Given the description of an element on the screen output the (x, y) to click on. 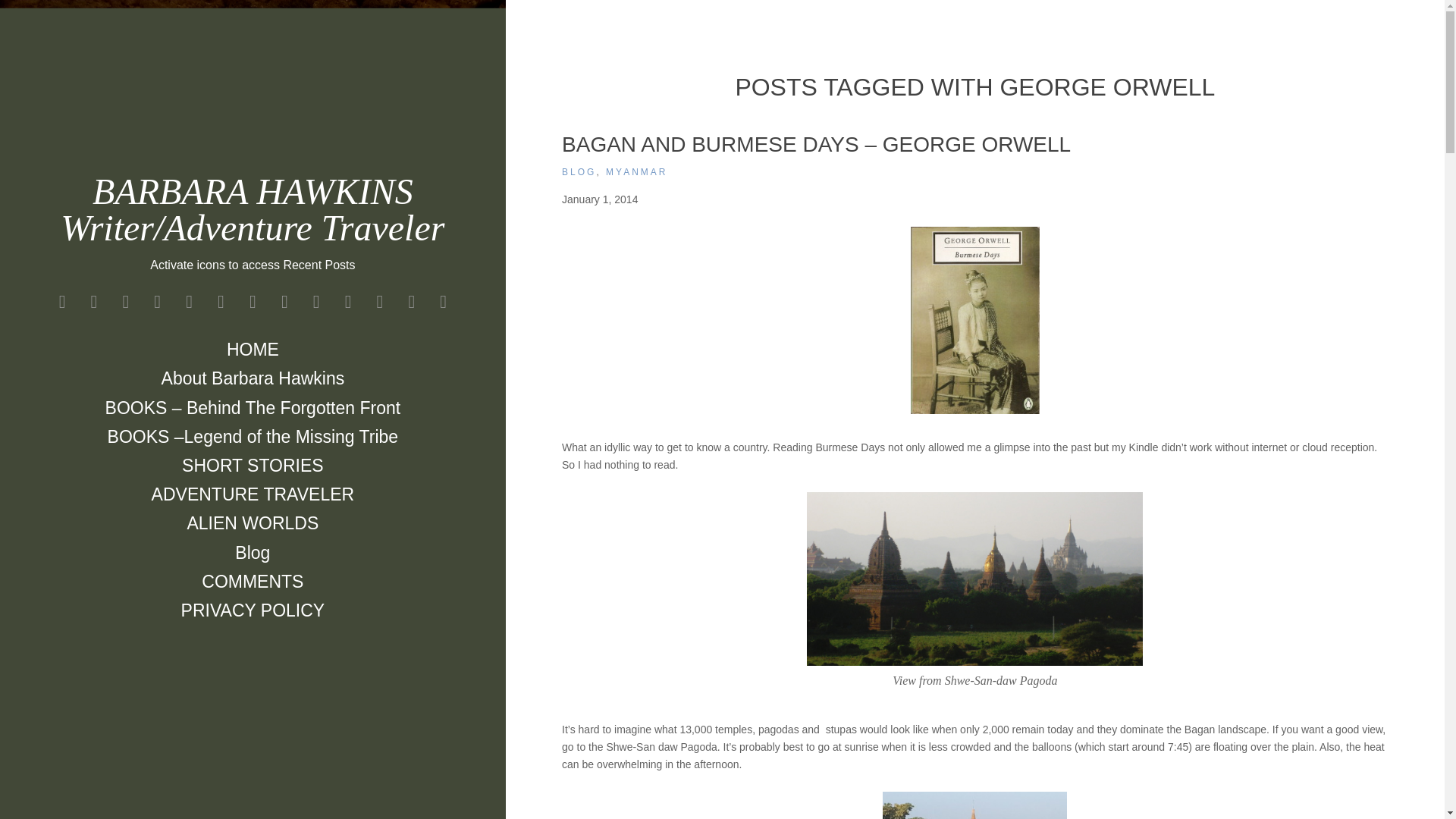
SAFARIS IN SOUTHERN AFRICA (252, 301)
SHORT STORIES (253, 465)
PRIVACY POLICY (252, 610)
COMMENTS (252, 581)
ADVENTURE TRAVELER (252, 493)
BLOG (578, 172)
MIDDLE EAST: Egypt, Jordan, Israel (61, 301)
ALIEN WORLDS (252, 522)
RUSSIA (157, 301)
Blog (252, 552)
